Given the description of an element on the screen output the (x, y) to click on. 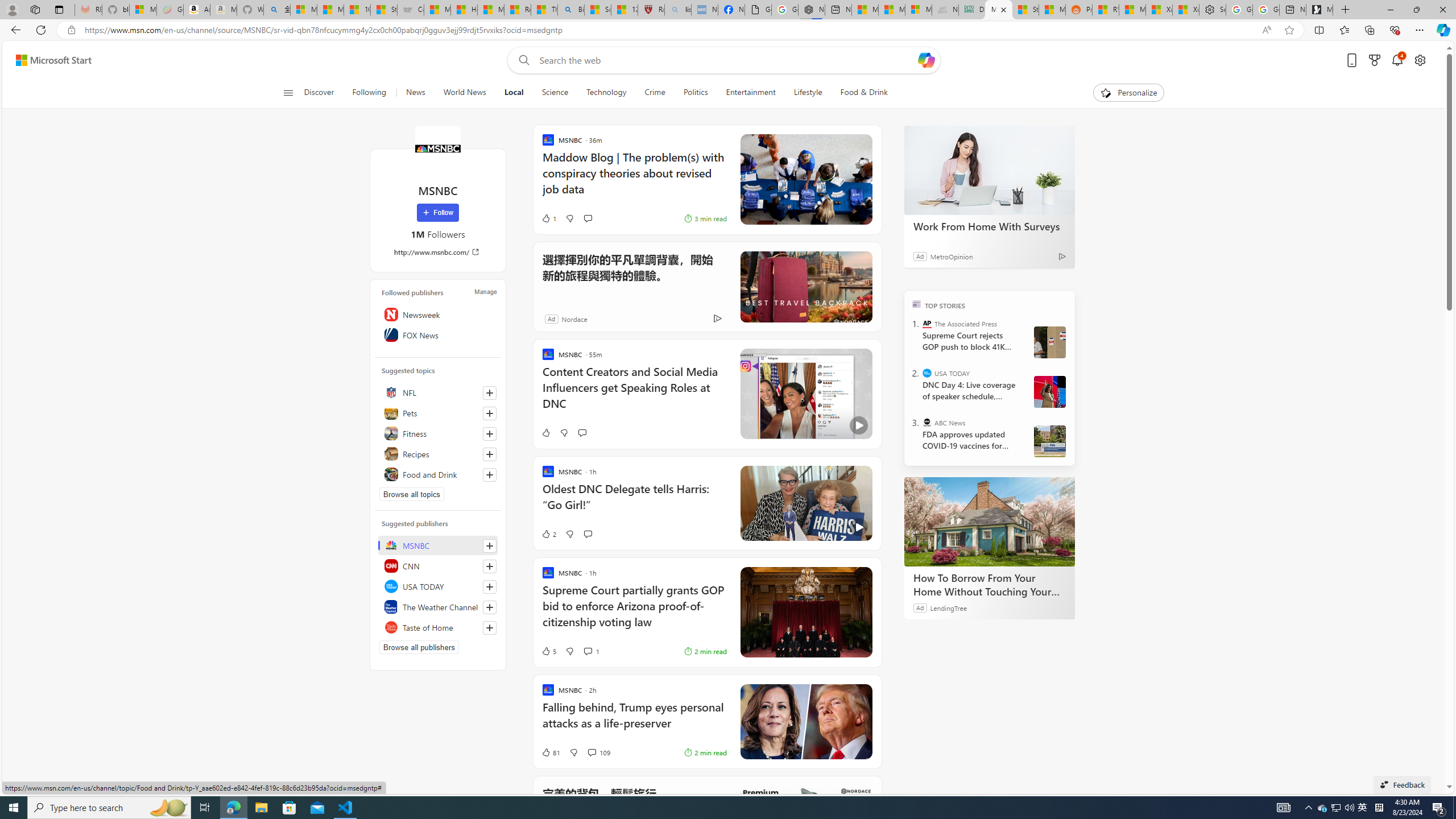
Recipes - MSN (517, 9)
TOP (916, 302)
